Given the description of an element on the screen output the (x, y) to click on. 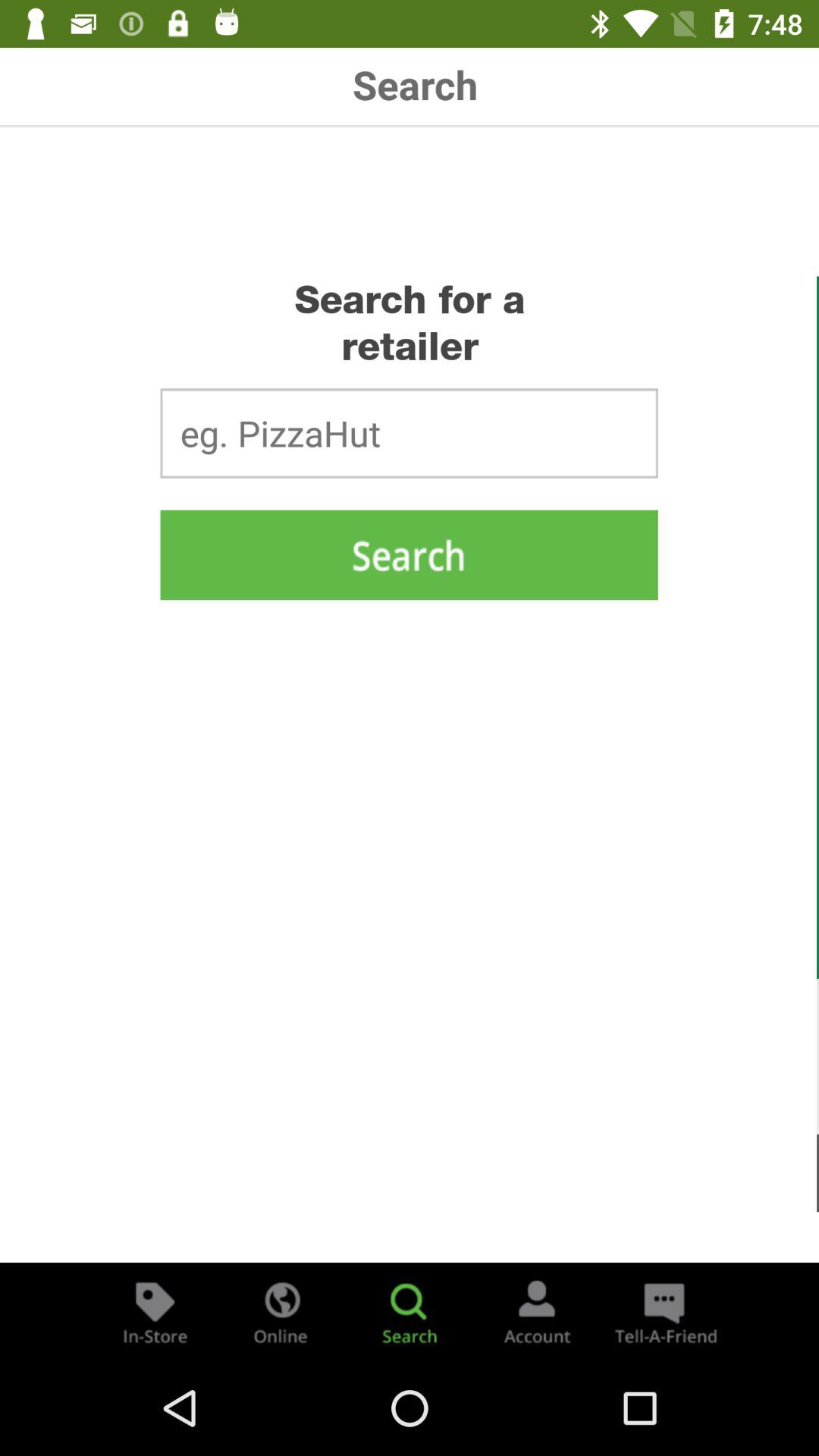
search retailers (409, 555)
